Given the description of an element on the screen output the (x, y) to click on. 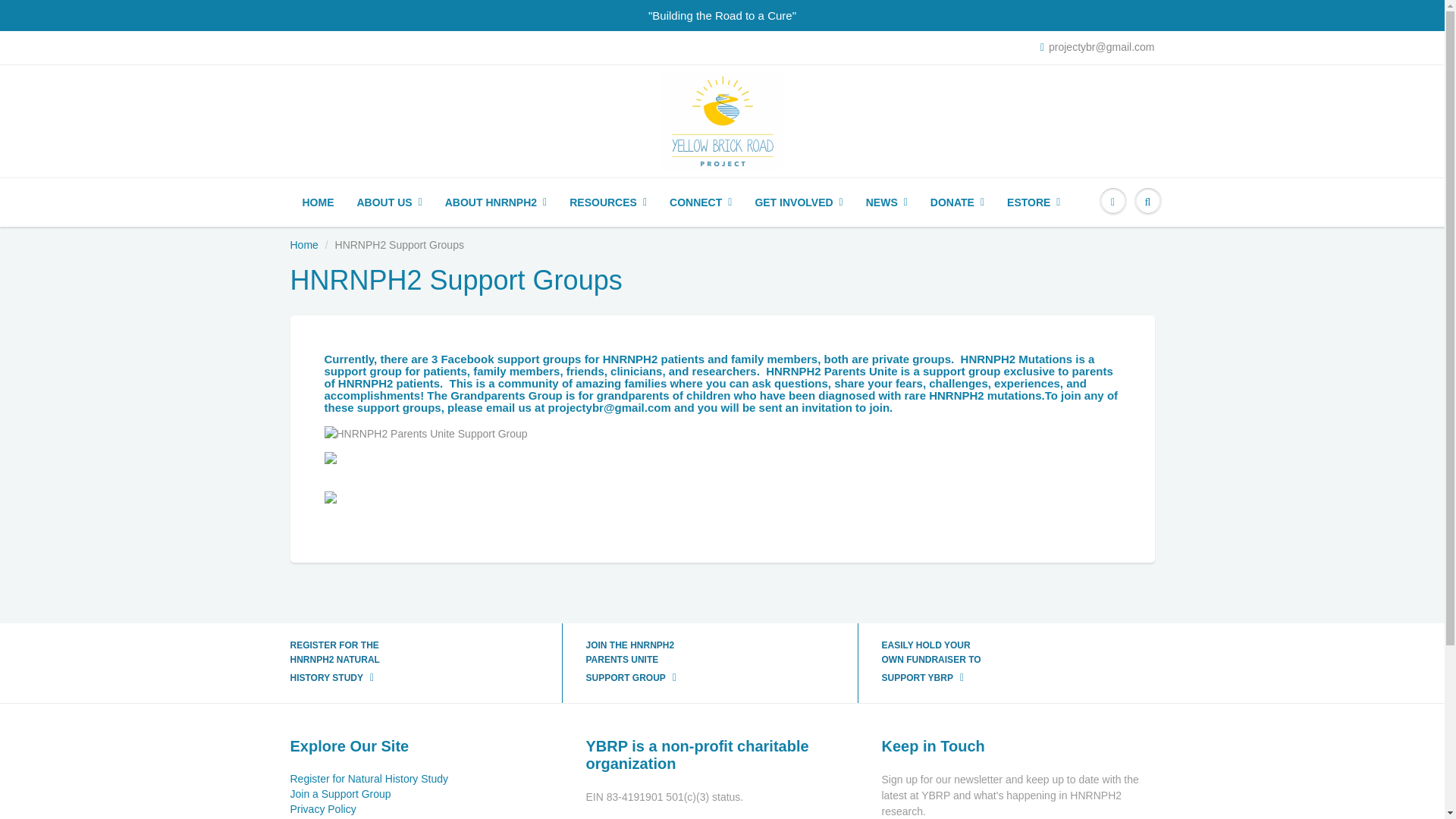
ABOUT US (389, 202)
GET INVOLVED (797, 202)
DONATE (956, 202)
Home (303, 244)
CONNECT (700, 202)
ABOUT HNRNPH2 (495, 202)
RESOURCES (607, 202)
HOME (318, 202)
NEWS (886, 202)
